Given the description of an element on the screen output the (x, y) to click on. 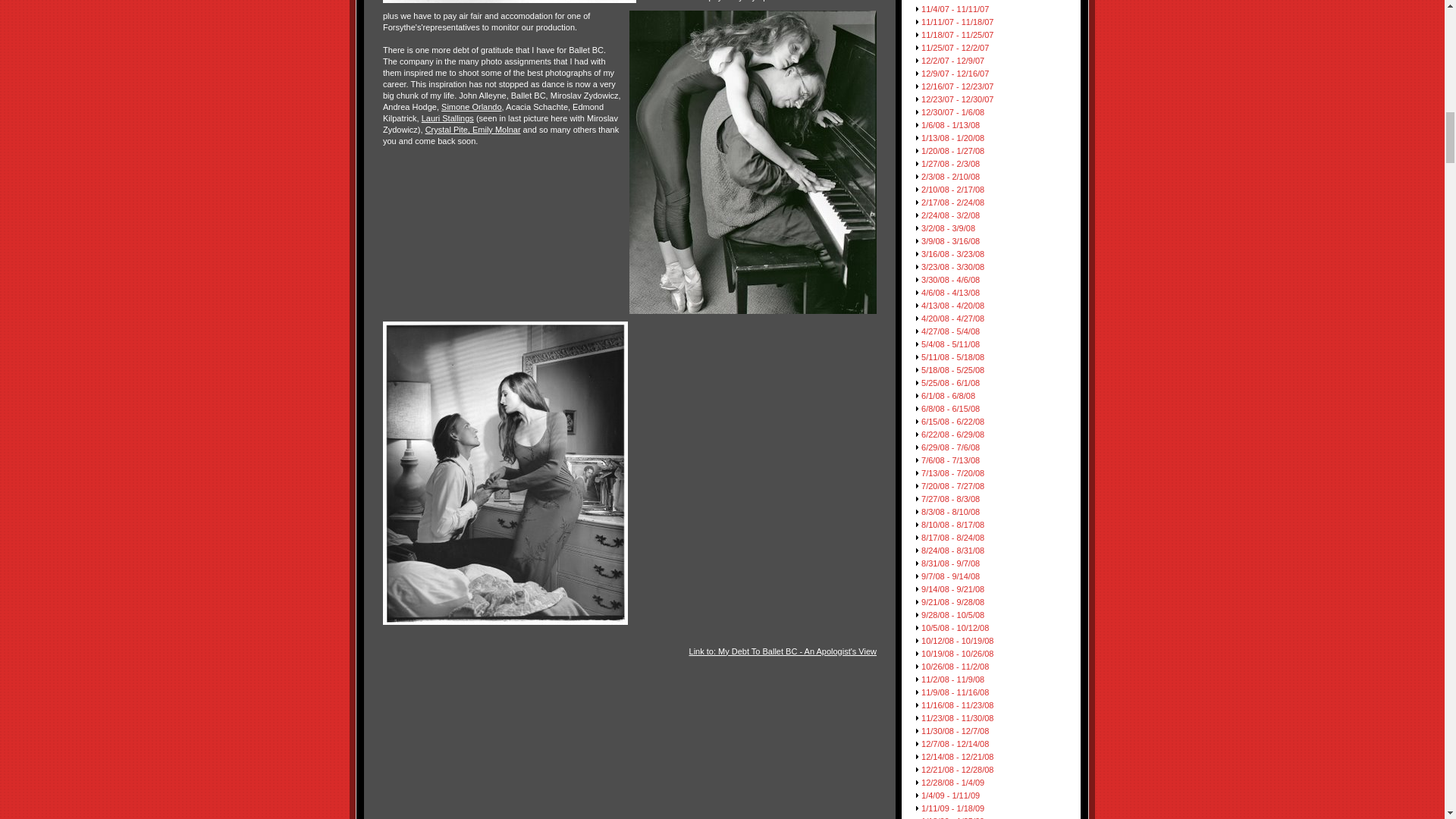
Simone Orlando (471, 106)
Link to: My Debt To Ballet BC - An Apologist's View (782, 651)
Lauri Stallings (448, 117)
permanent link (782, 651)
Crystal Pite, Emily Molnar (473, 129)
